Given the description of an element on the screen output the (x, y) to click on. 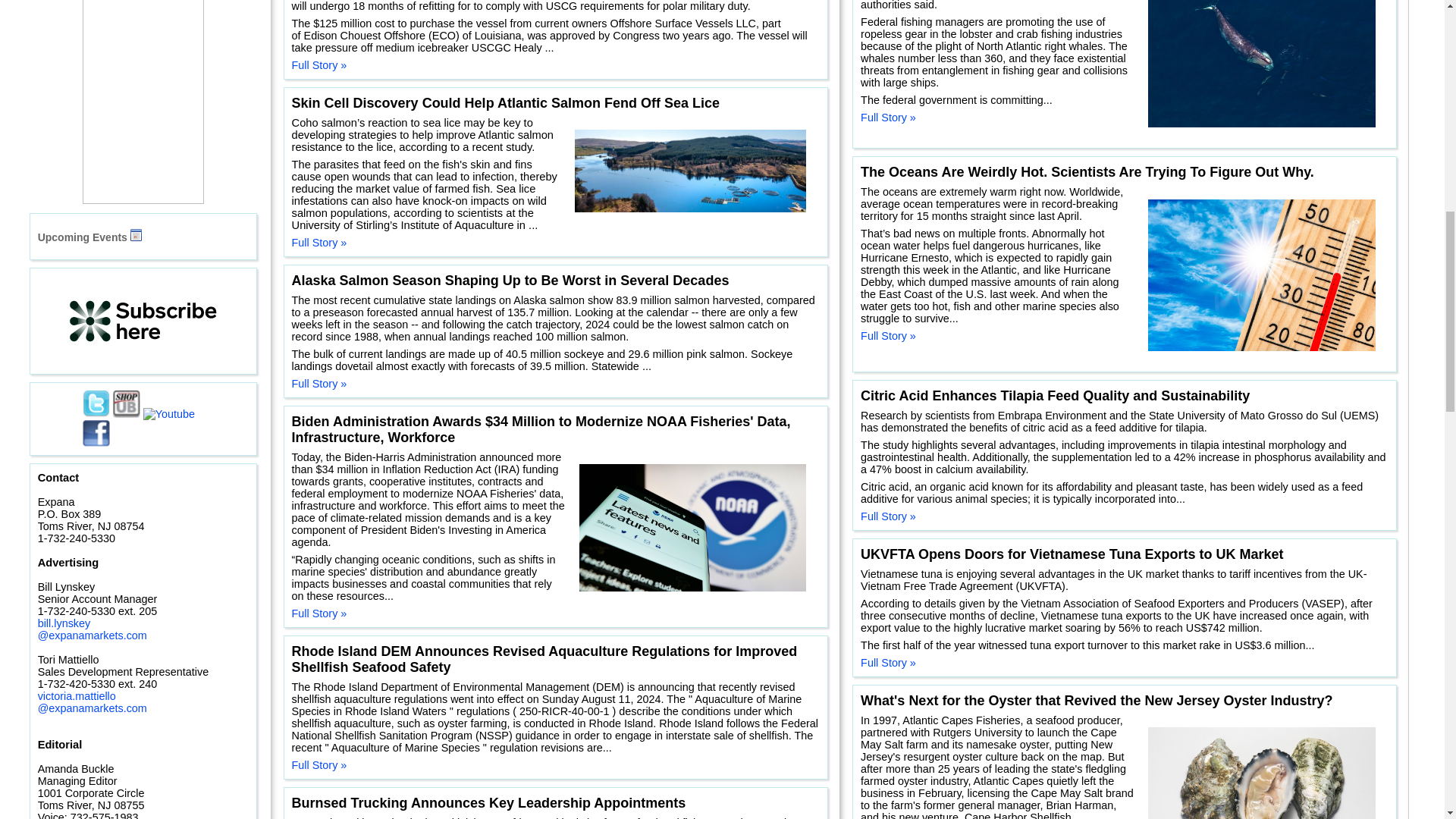
Market Story (81, 308)
Market Story (94, 655)
Market Story (100, 774)
Market Story (197, 600)
